Given the description of an element on the screen output the (x, y) to click on. 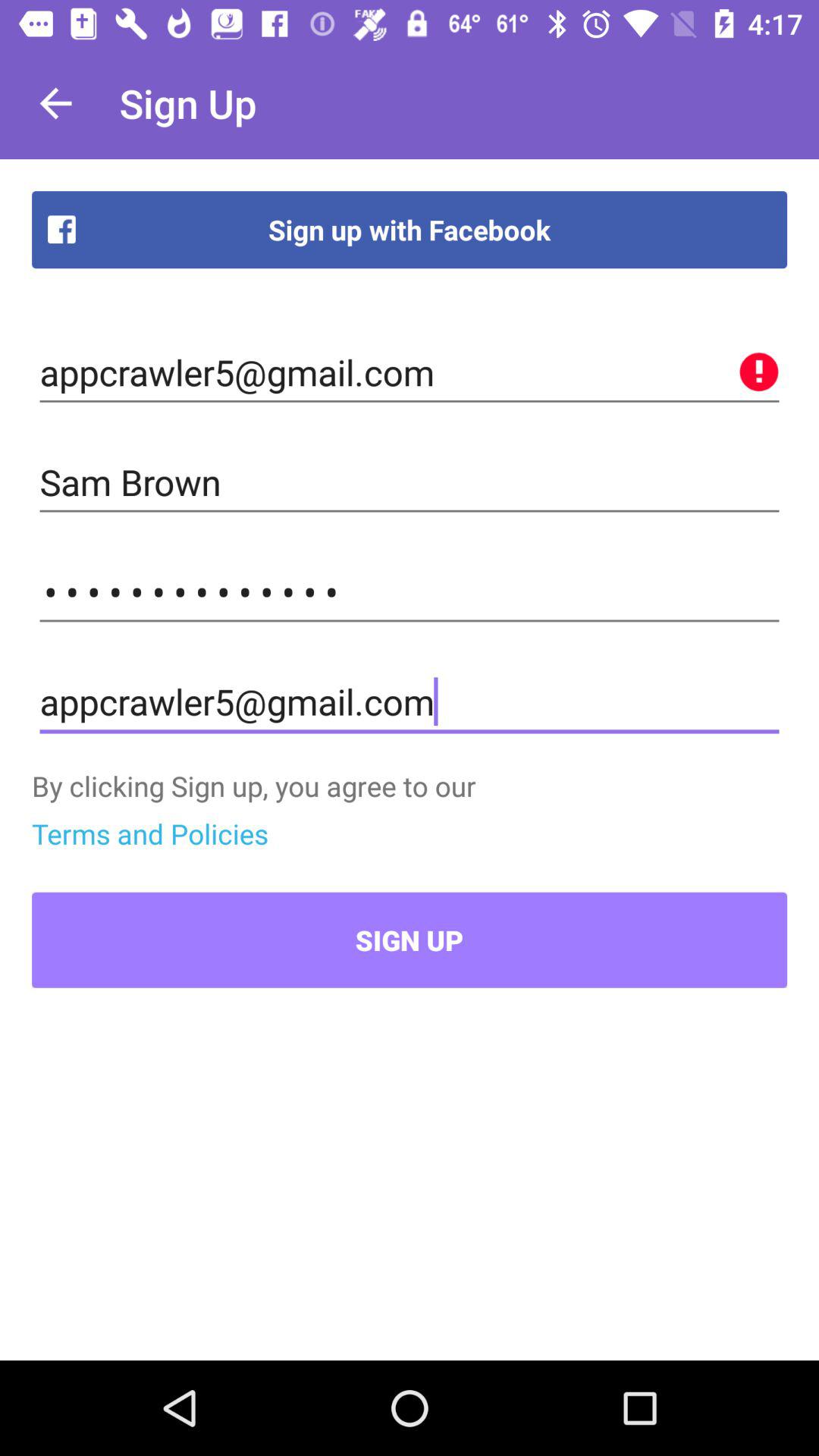
select appcrawler3116 item (409, 592)
